Given the description of an element on the screen output the (x, y) to click on. 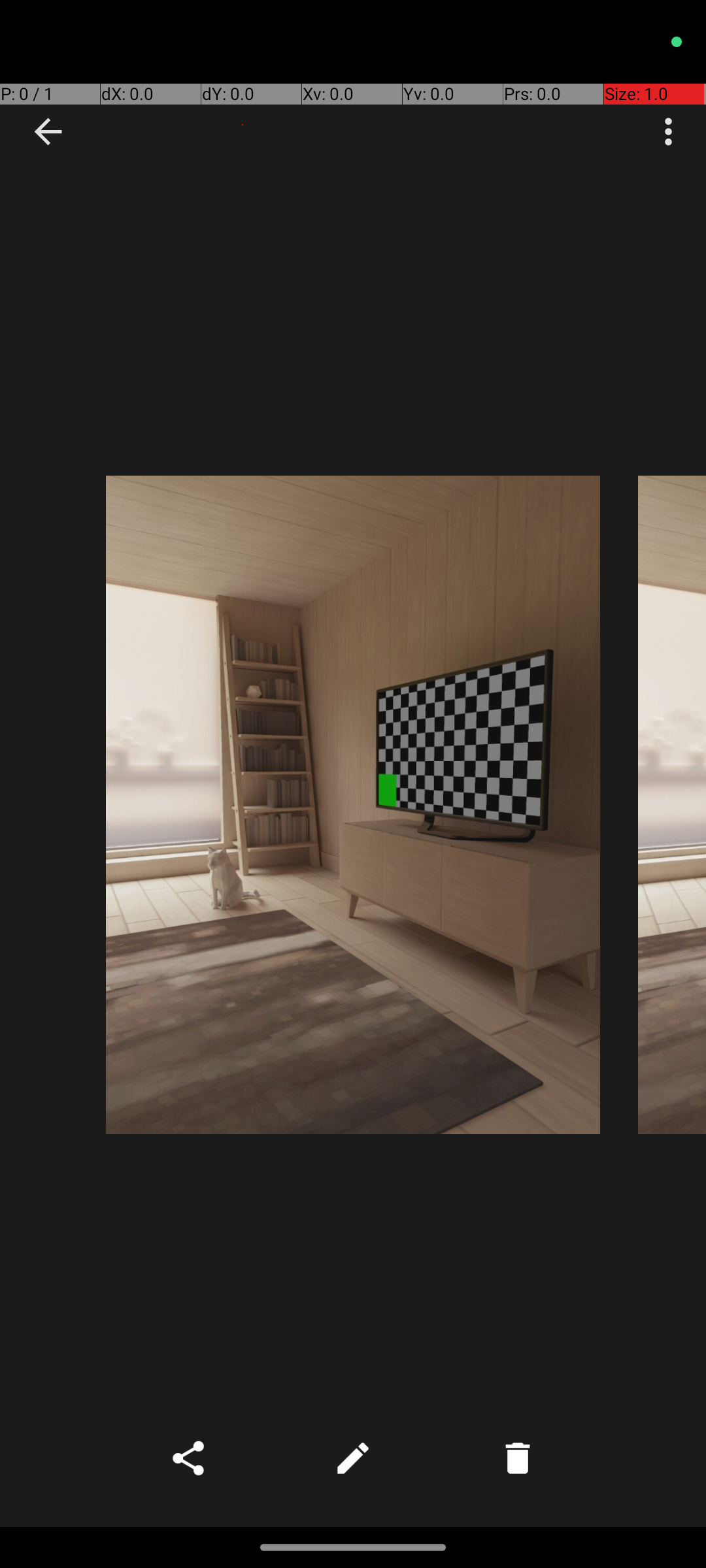
Photo taken on Oct 15, 2023 15:34:28 Element type: android.widget.ImageView (352, 804)
Photo taken on Oct 15, 2023 15:34:17 Element type: android.widget.ImageView (672, 804)
